Given the description of an element on the screen output the (x, y) to click on. 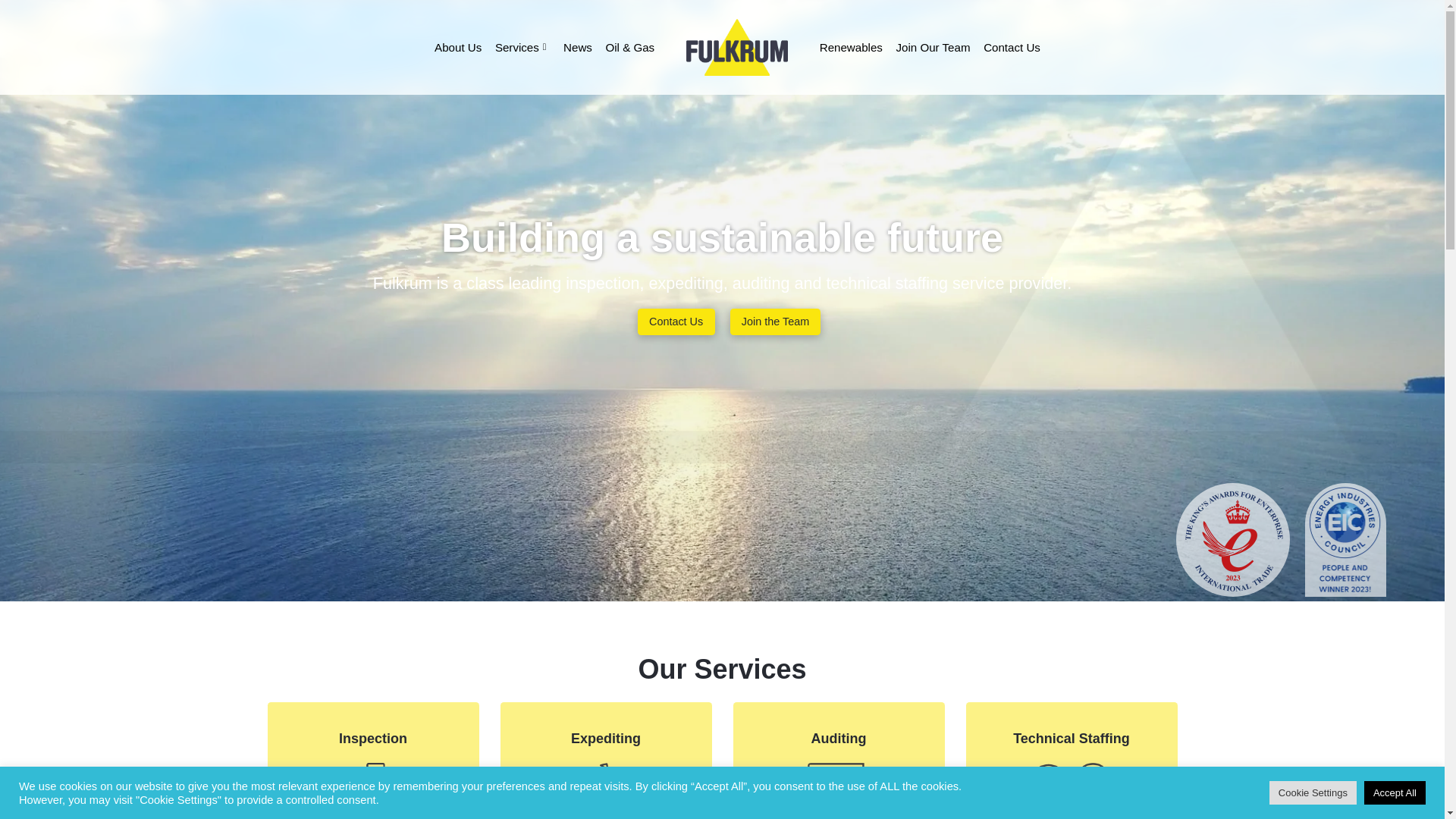
Join Our Team (932, 47)
Renewables (849, 47)
Services (522, 47)
Contact Us (1011, 47)
Contact Us (675, 321)
About Us (457, 47)
News (578, 47)
Join the Team (775, 321)
